Given the description of an element on the screen output the (x, y) to click on. 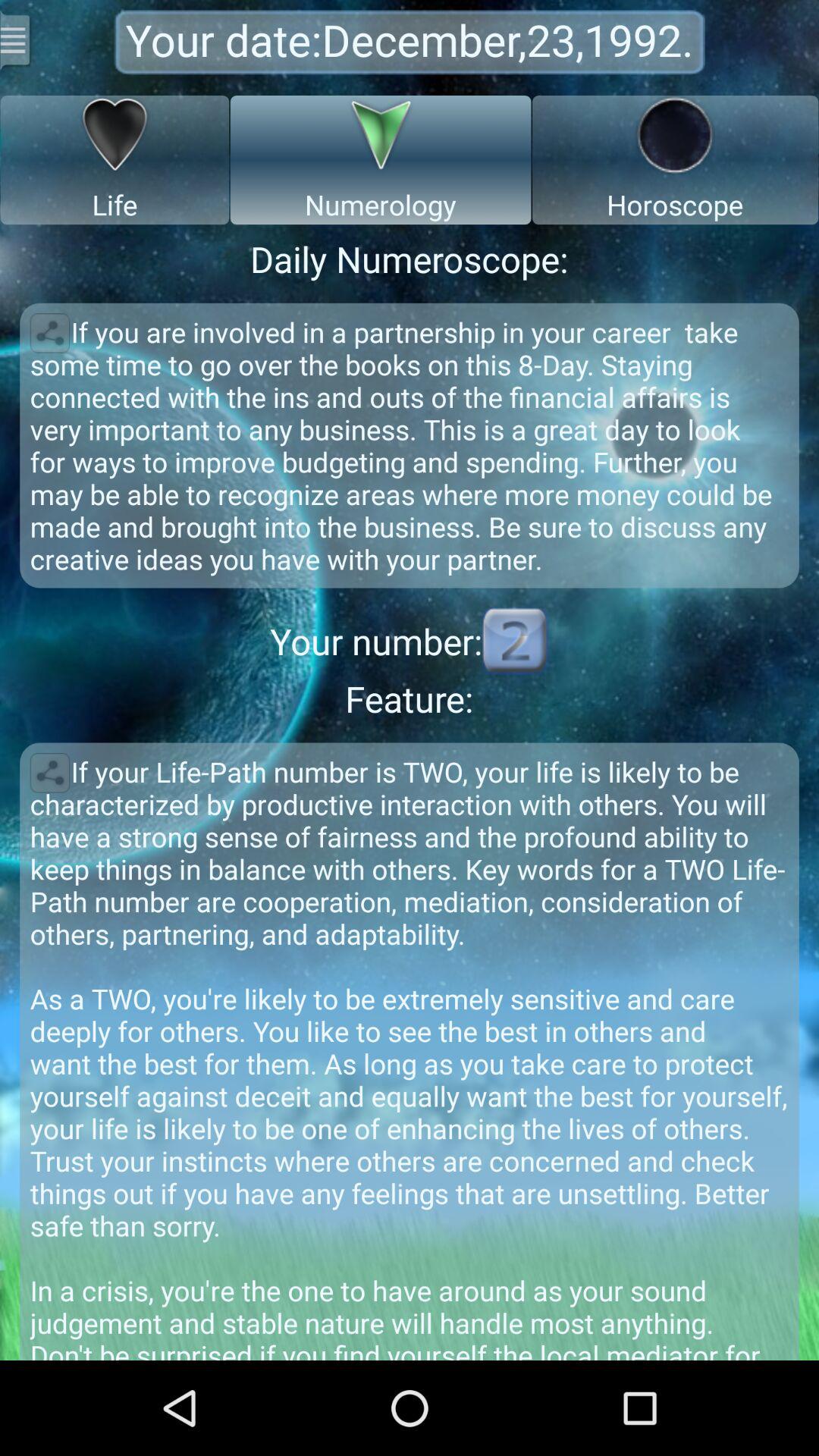
top left sharing icon (49, 333)
